Given the description of an element on the screen output the (x, y) to click on. 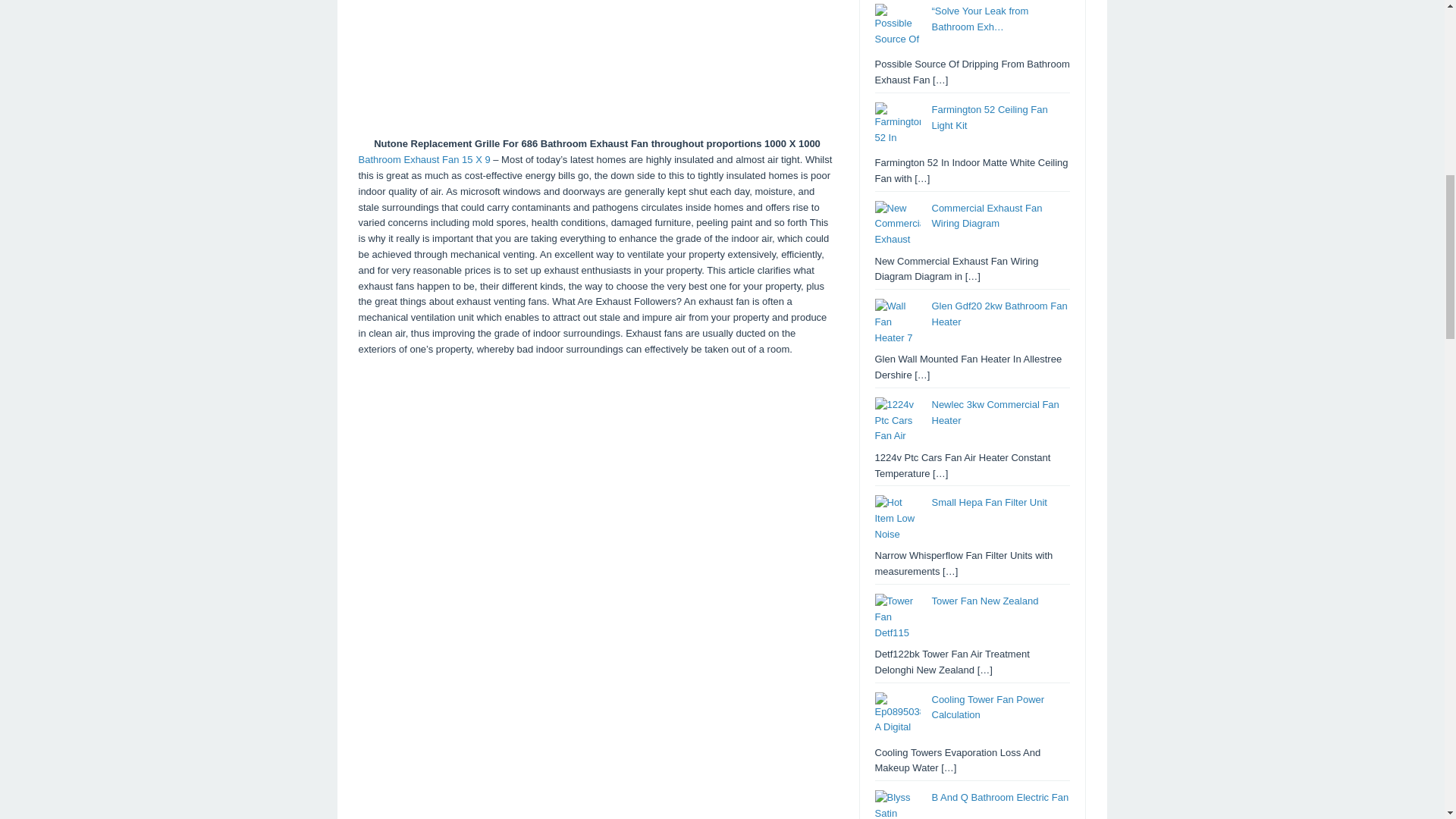
Bathroom Exhaust Fan 15 X 9 (423, 159)
